Given the description of an element on the screen output the (x, y) to click on. 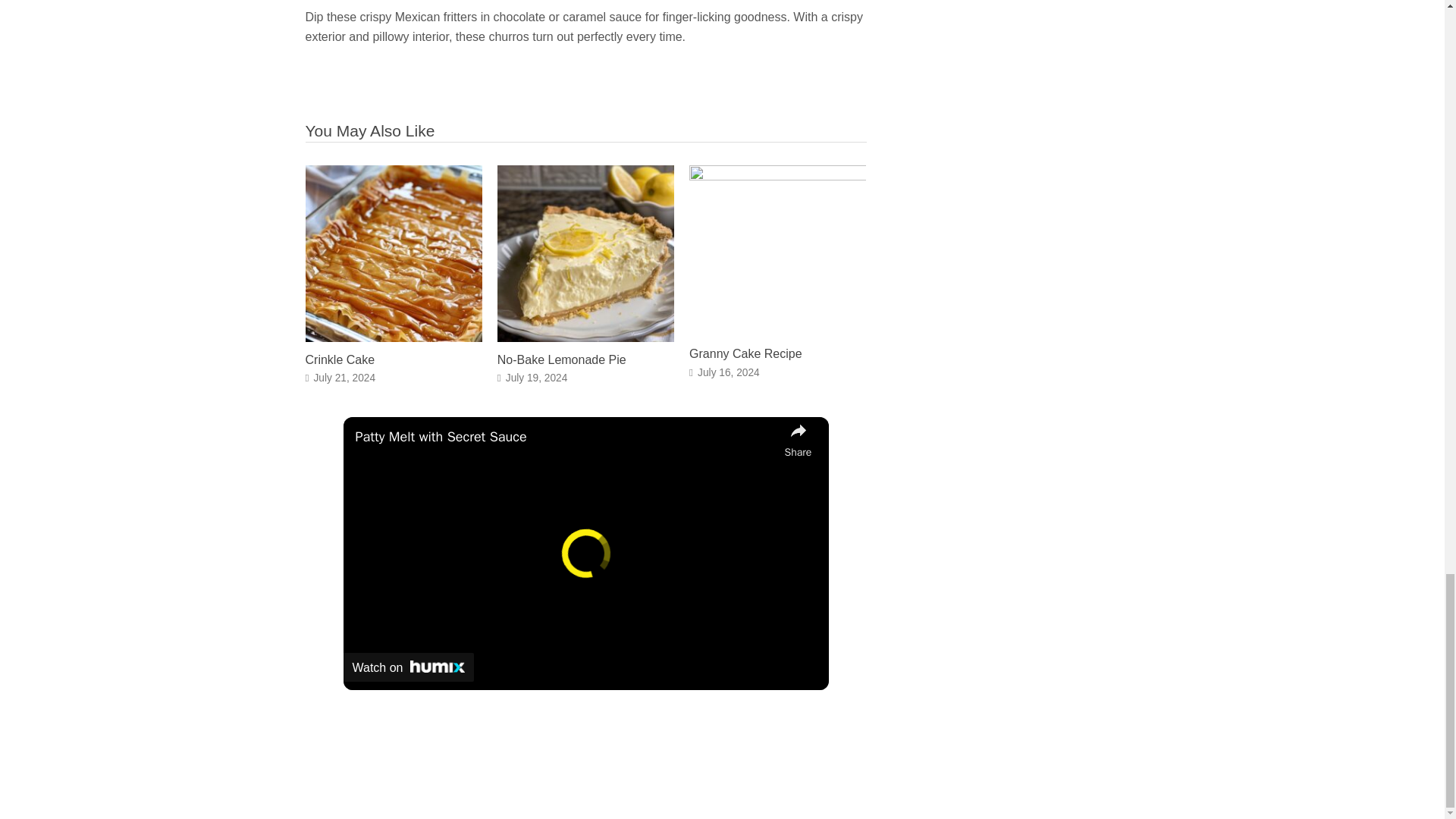
Granny Cake Recipe (777, 175)
Granny Cake Recipe (745, 353)
Granny Cake Recipe (745, 353)
Crinkle Cake (339, 359)
No-Bake Lemonade Pie (585, 337)
Watch on (407, 666)
No-Bake Lemonade Pie (561, 359)
Patty Melt with Secret Sauce (565, 436)
No-Bake Lemonade Pie (561, 359)
Crinkle Cake (392, 337)
Crinkle Cake (339, 359)
